Given the description of an element on the screen output the (x, y) to click on. 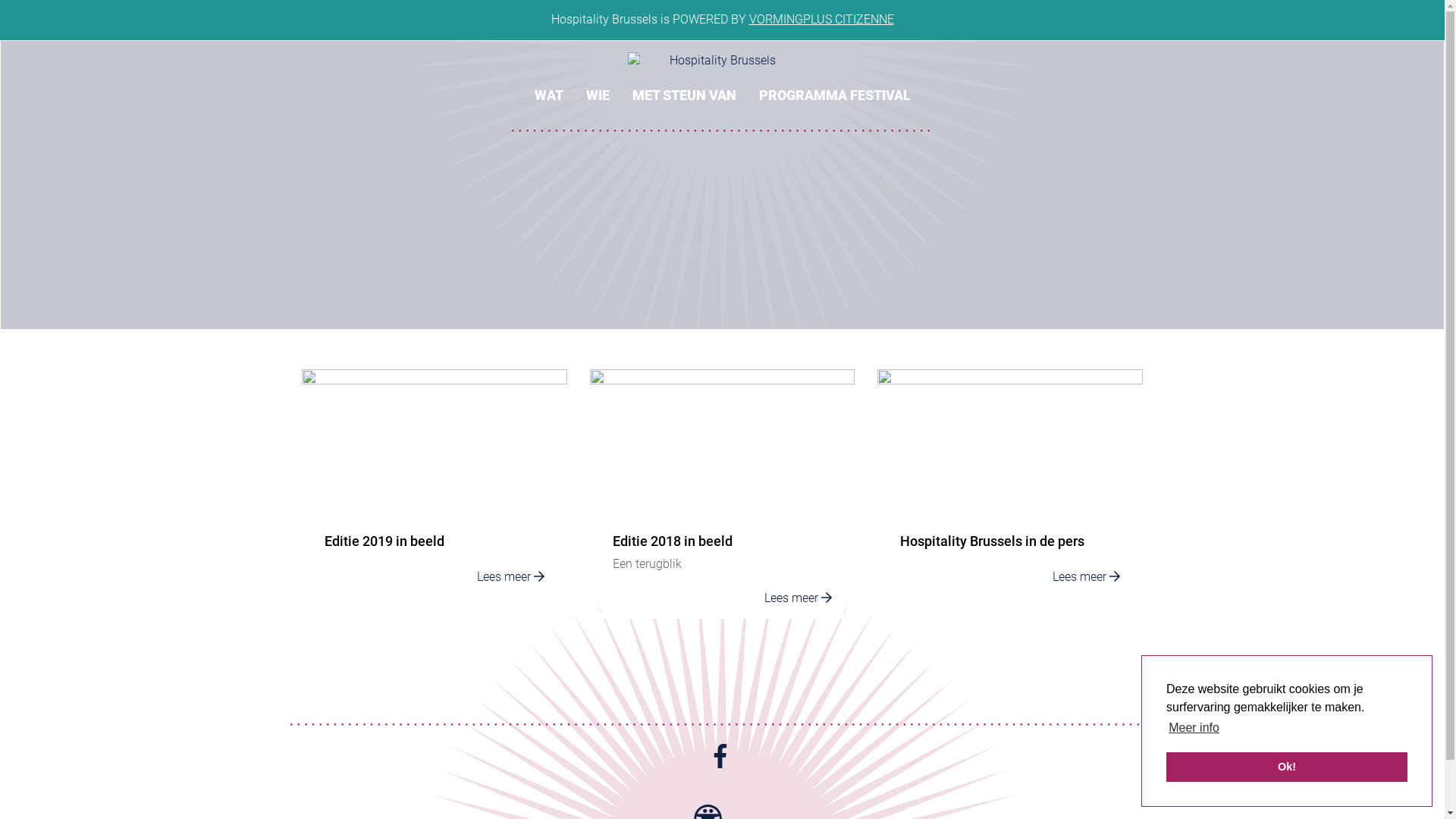
MET STEUN VAN Element type: text (683, 86)
WAT Element type: text (548, 86)
PROGRAMMA FESTIVAL Element type: text (834, 86)
Overslaan en naar de inhoud gaan Element type: text (0, 0)
Hospitality Brussels Element type: hover (716, 60)
Editie 2019 in beeld
Lees meer Element type: text (434, 505)
VORMINGPLUS CITIZENNE Element type: text (821, 19)
Hospitality Brussels in de pers
Lees meer Element type: text (1010, 505)
Editie 2018 in beeld
Een terugblik
Lees meer Element type: text (721, 505)
WIE Element type: text (597, 86)
Meer info Element type: text (1193, 727)
Ok! Element type: text (1286, 767)
